Given the description of an element on the screen output the (x, y) to click on. 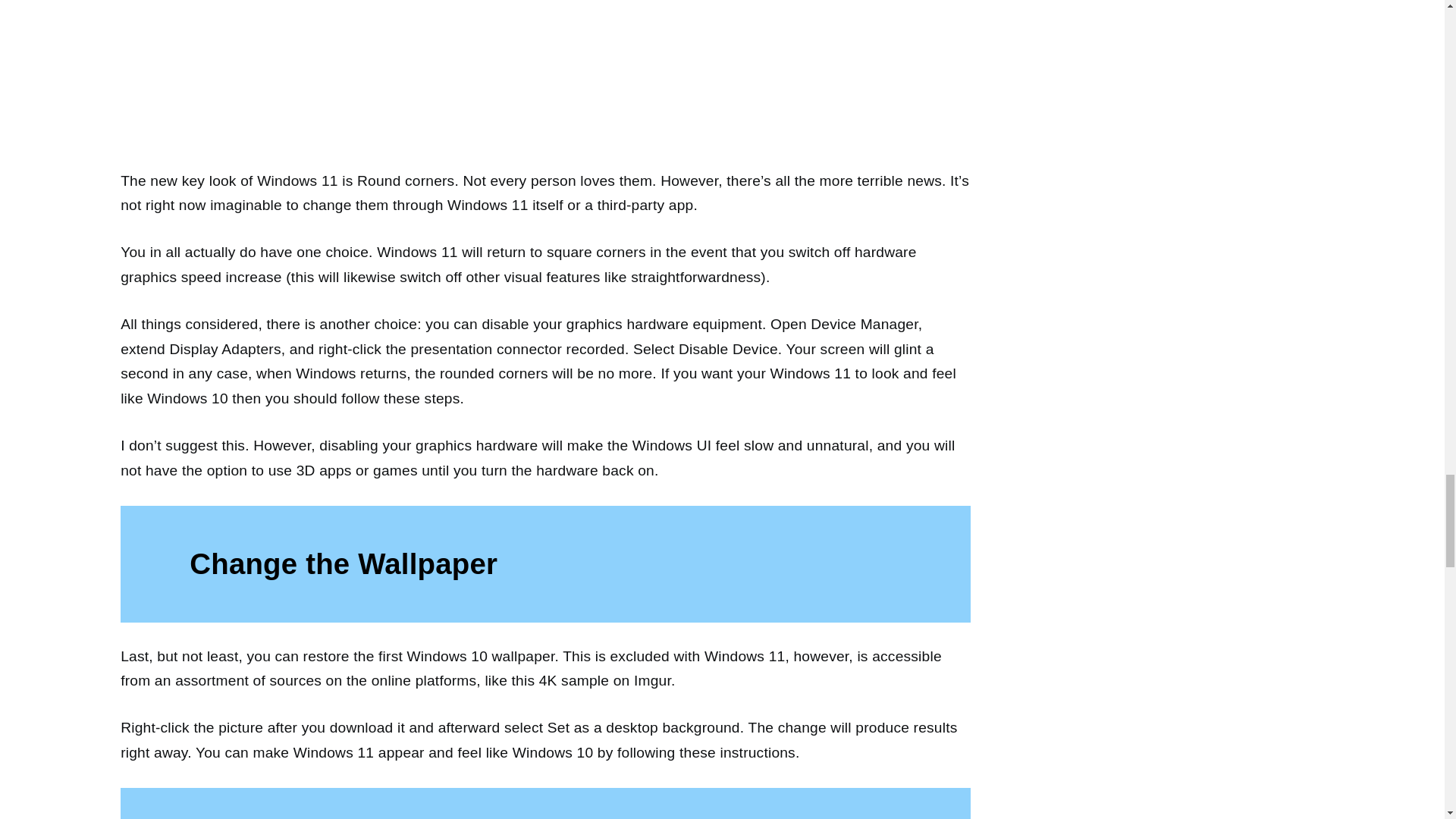
How to make Windows 11 look and feel like Windows 10? 5 (545, 84)
